Given the description of an element on the screen output the (x, y) to click on. 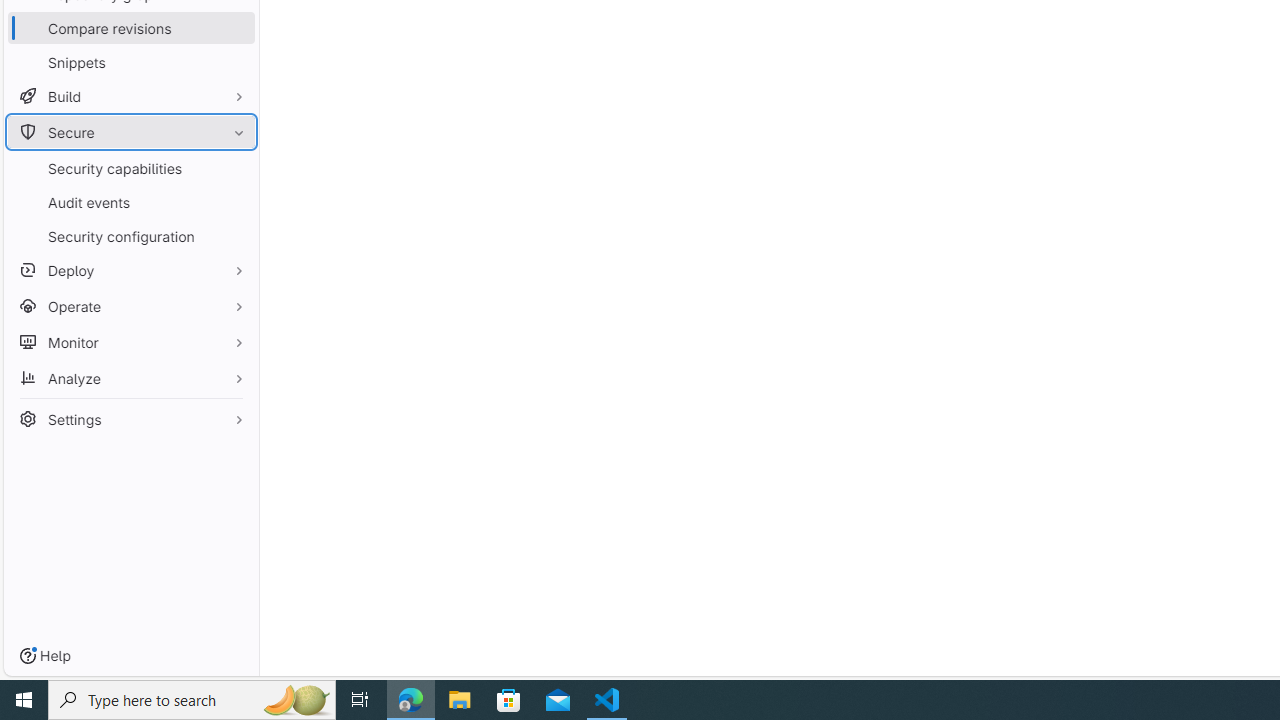
Audit events (130, 201)
Compare revisions (130, 28)
Pin Audit events (234, 202)
Security capabilities (130, 168)
Secure (130, 132)
Pin Compare revisions (234, 28)
Operate (130, 306)
Analyze (130, 378)
Security configuration (130, 236)
Pin Security capabilities (234, 168)
Snippets (130, 62)
Security capabilities (130, 168)
